Given the description of an element on the screen output the (x, y) to click on. 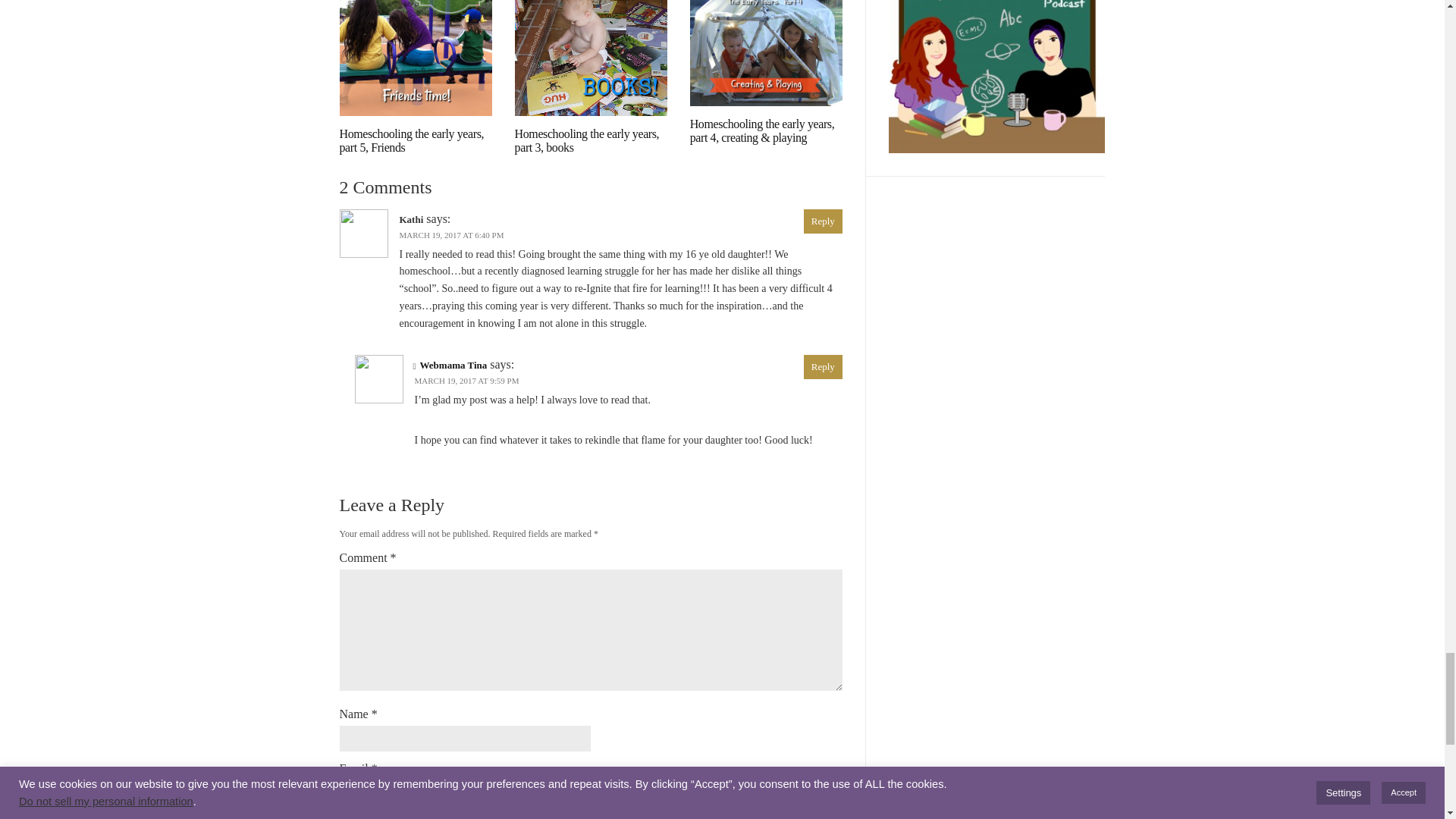
Homeschooling the early years, part 3, books 9 (590, 58)
Homeschooling the early years, part 5, Friends 8 (415, 58)
